Given the description of an element on the screen output the (x, y) to click on. 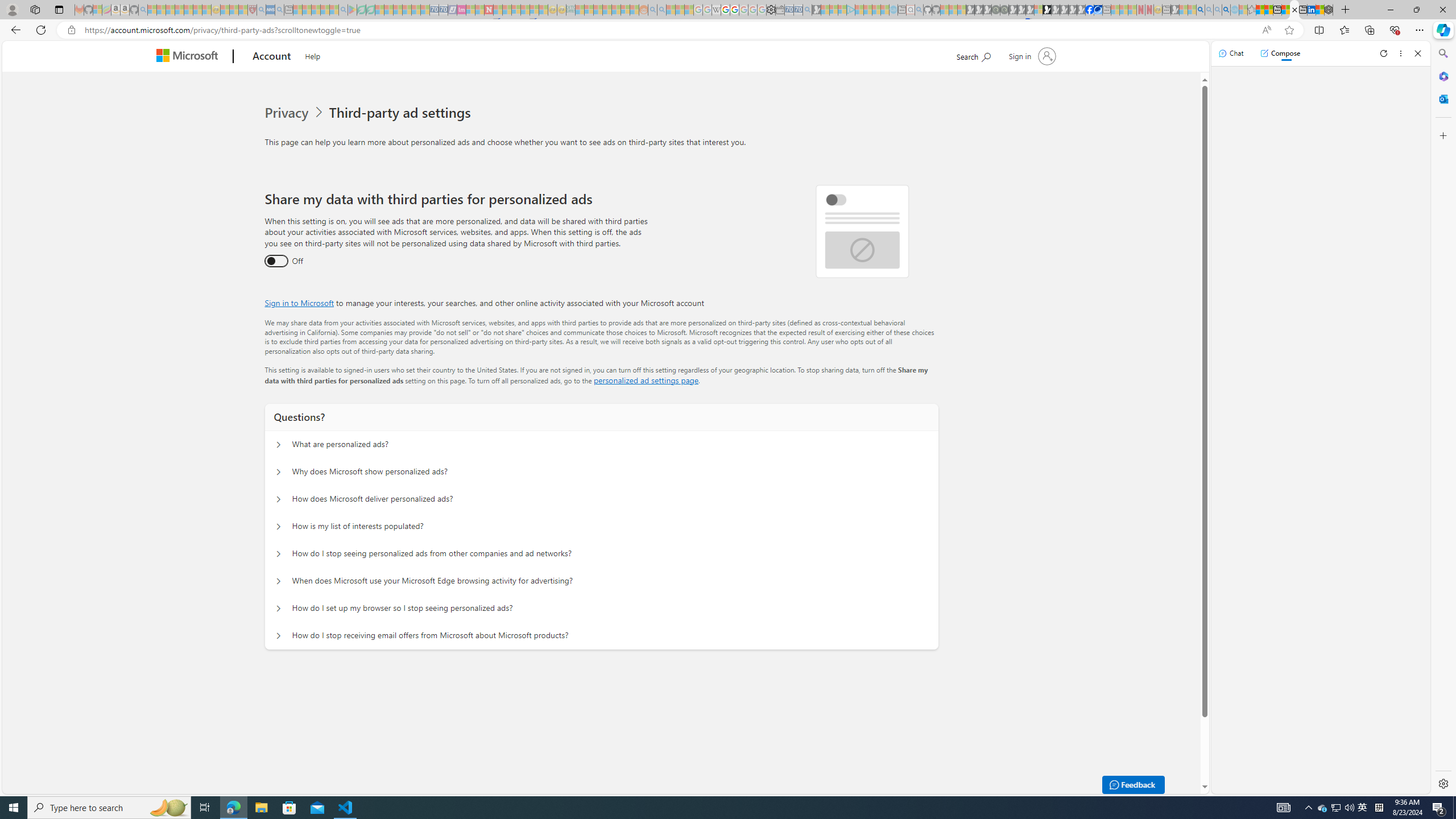
Google Chrome Internet Browser Download - Search Images (1225, 9)
Favorites - Sleeping (1251, 9)
